Given the description of an element on the screen output the (x, y) to click on. 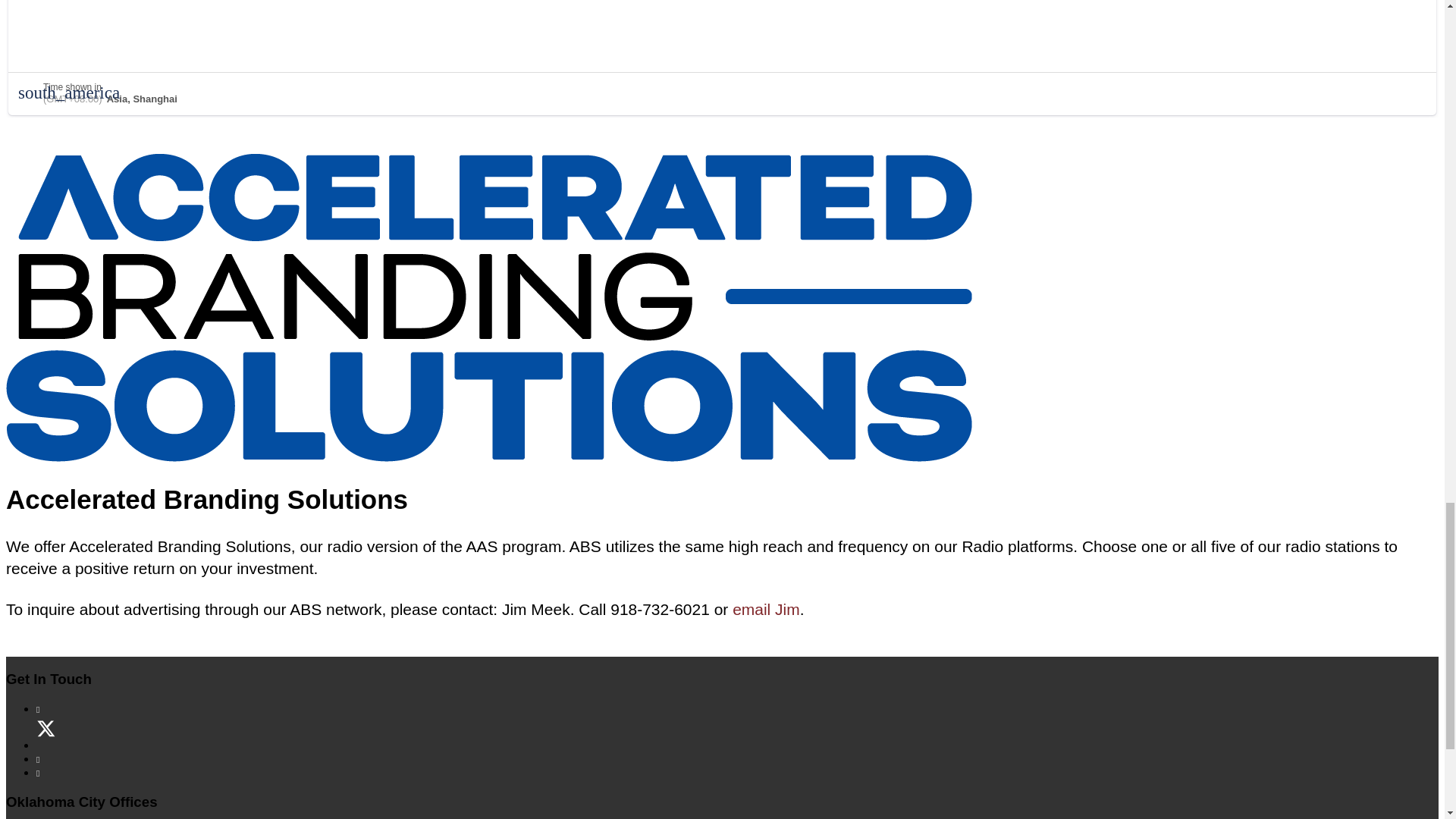
email Jim (765, 609)
Twitter (47, 746)
Twitter (47, 746)
